Given the description of an element on the screen output the (x, y) to click on. 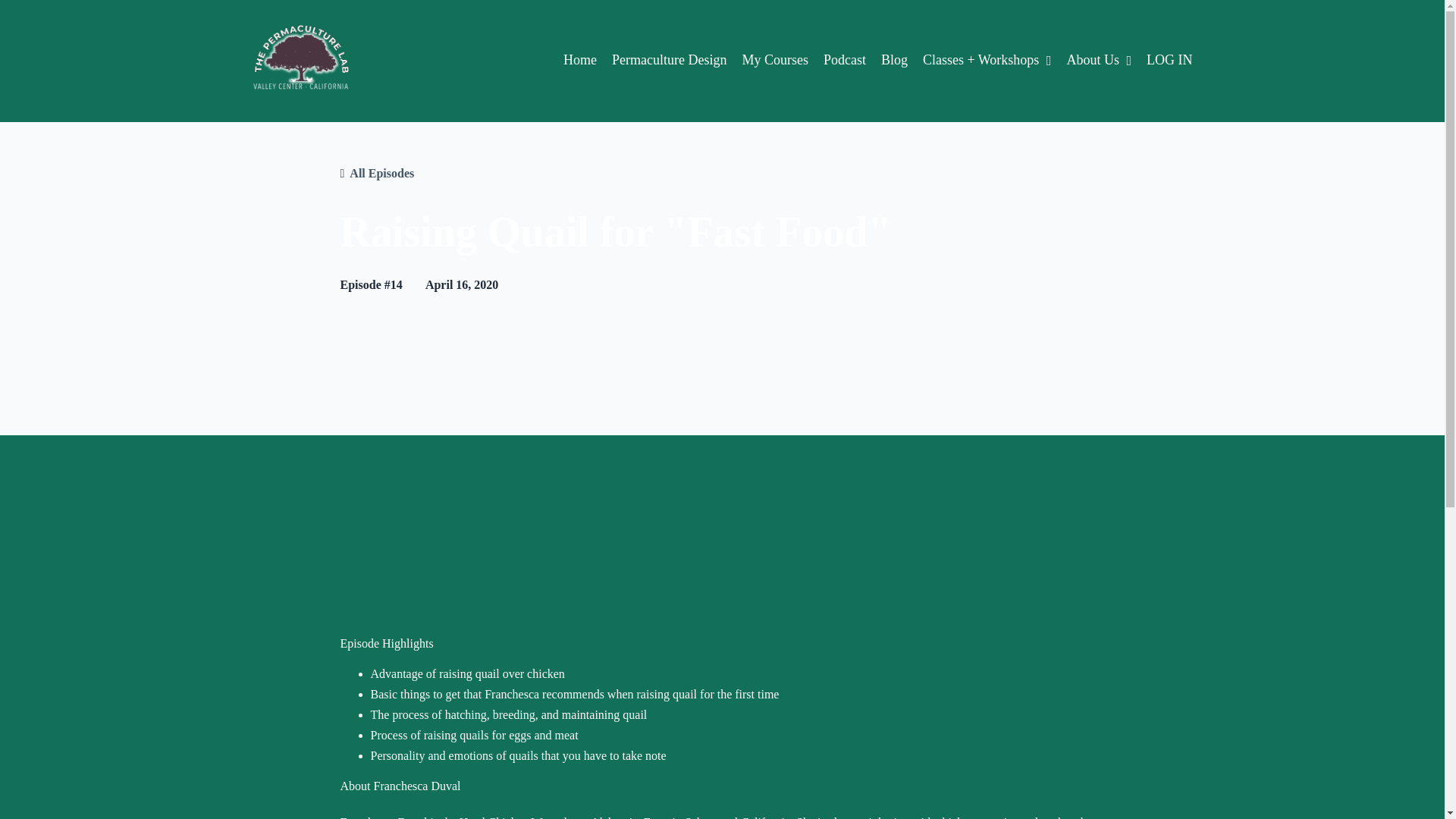
Podcast (845, 60)
About Us (1098, 60)
All Episodes (381, 173)
Home (579, 60)
My Courses (774, 60)
April 16, 2020 at 4:00pm  (461, 284)
LOG IN (1169, 59)
Permaculture Design (668, 60)
Blog (893, 60)
